Given the description of an element on the screen output the (x, y) to click on. 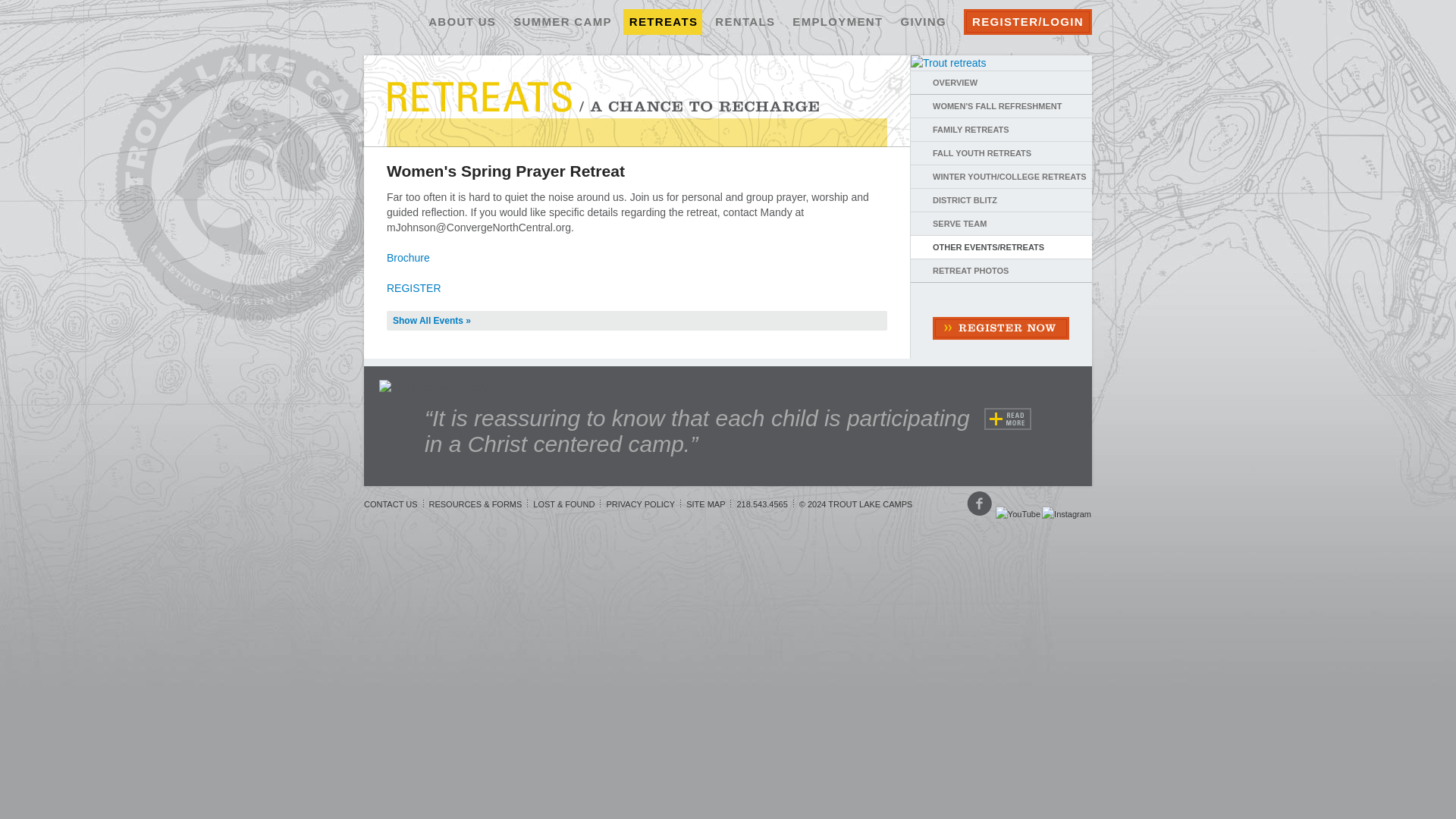
SUMMER CAMP (560, 22)
RETREATS (662, 22)
RENTALS (743, 22)
GIVING (921, 22)
EMPLOYMENT (836, 22)
ABOUT US (461, 22)
